Given the description of an element on the screen output the (x, y) to click on. 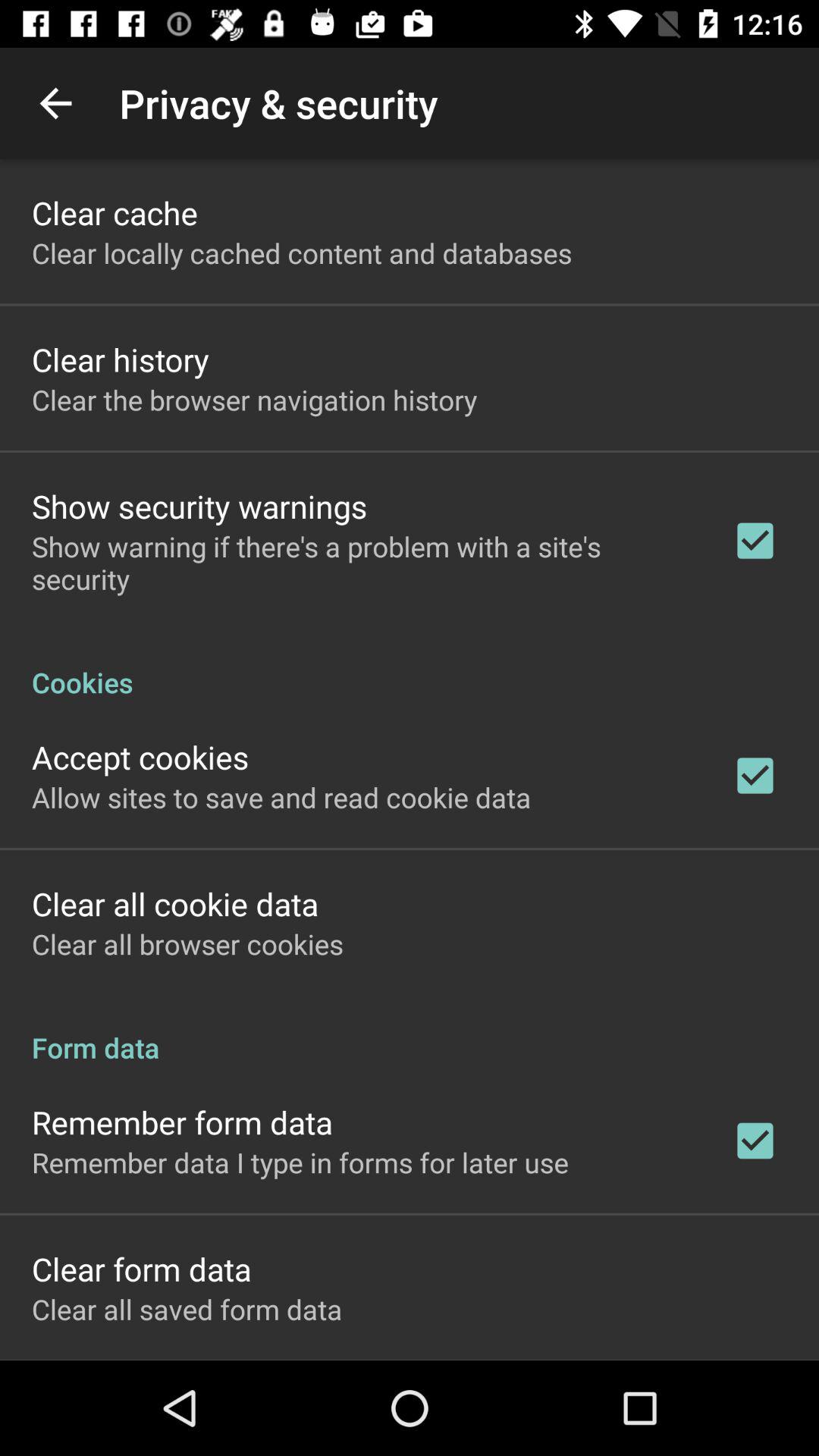
press icon above clear cache (55, 103)
